Given the description of an element on the screen output the (x, y) to click on. 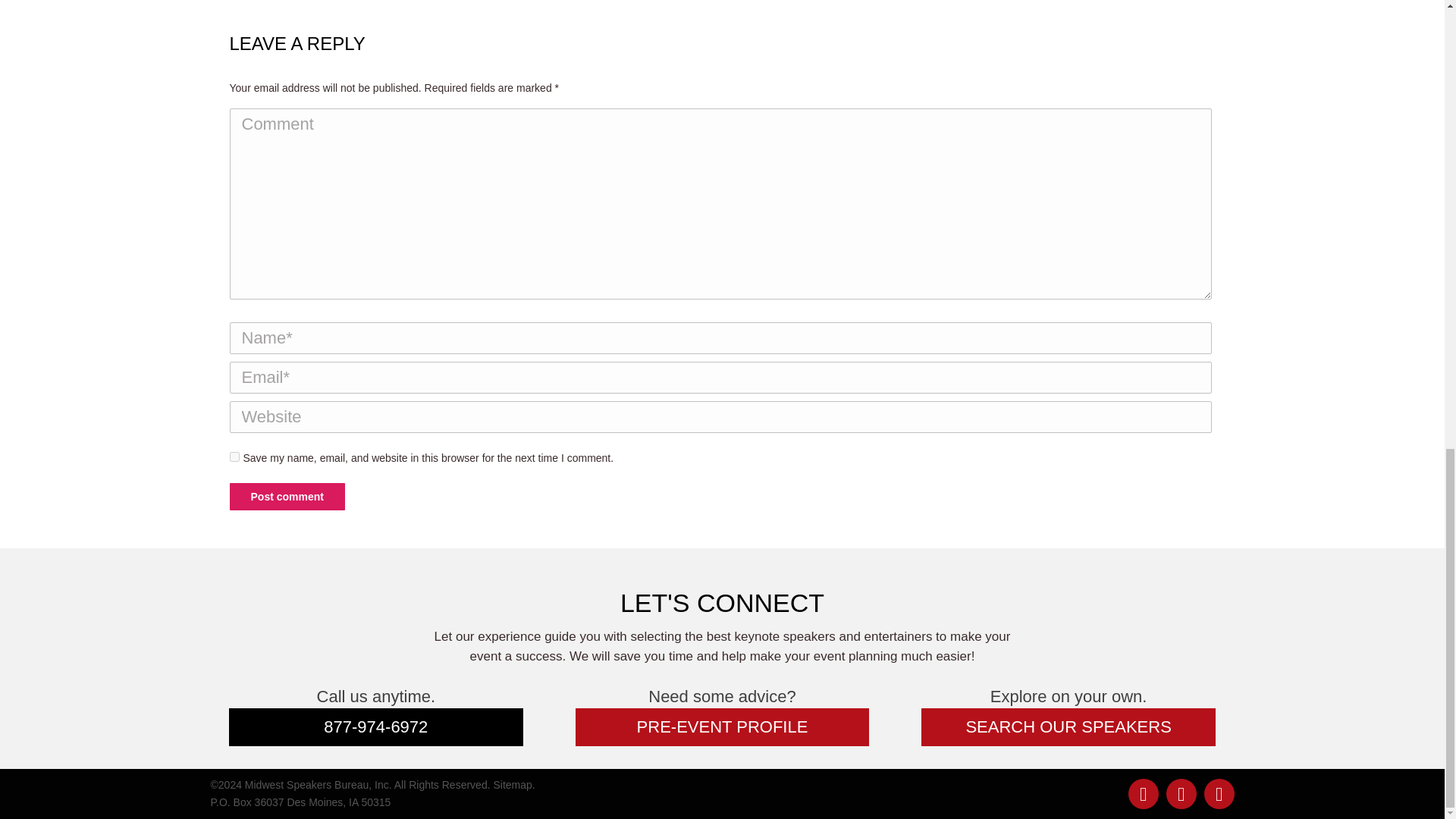
Facebook (1219, 793)
Linked In (1143, 793)
Youtube (1181, 793)
yes (233, 456)
